Given the description of an element on the screen output the (x, y) to click on. 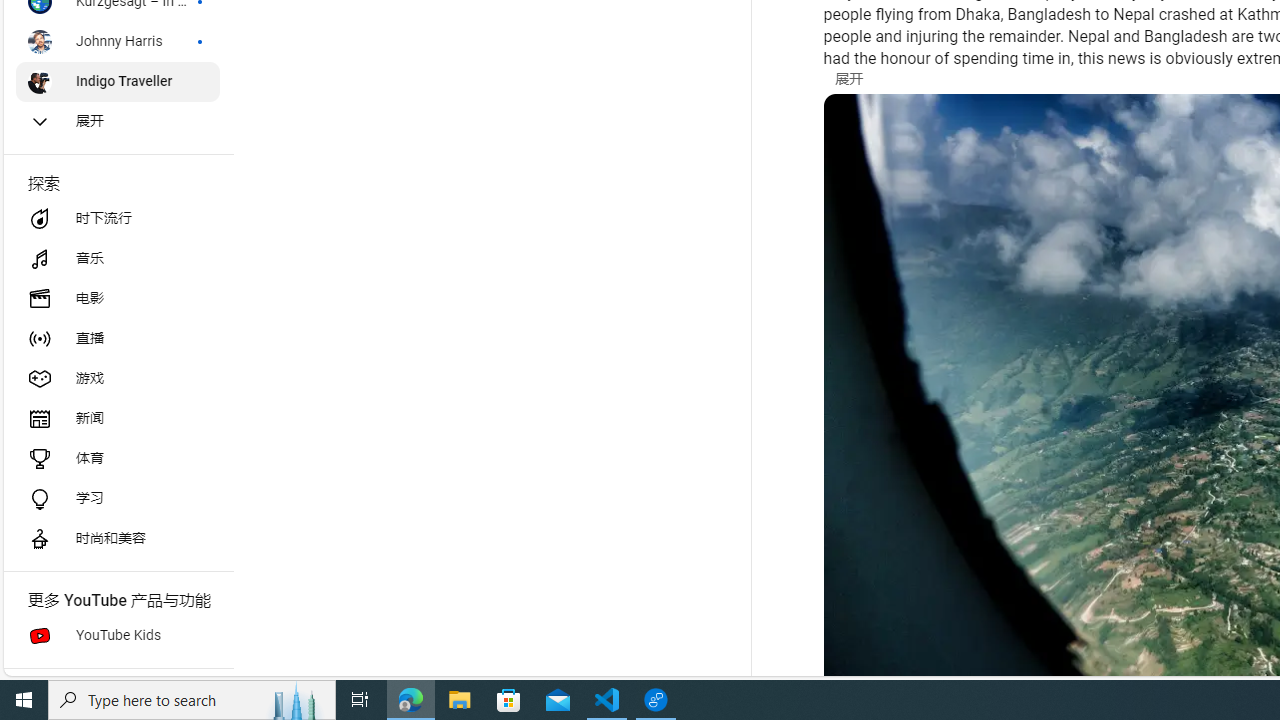
YouTube Kids (117, 635)
Indigo Traveller (117, 81)
